Given the description of an element on the screen output the (x, y) to click on. 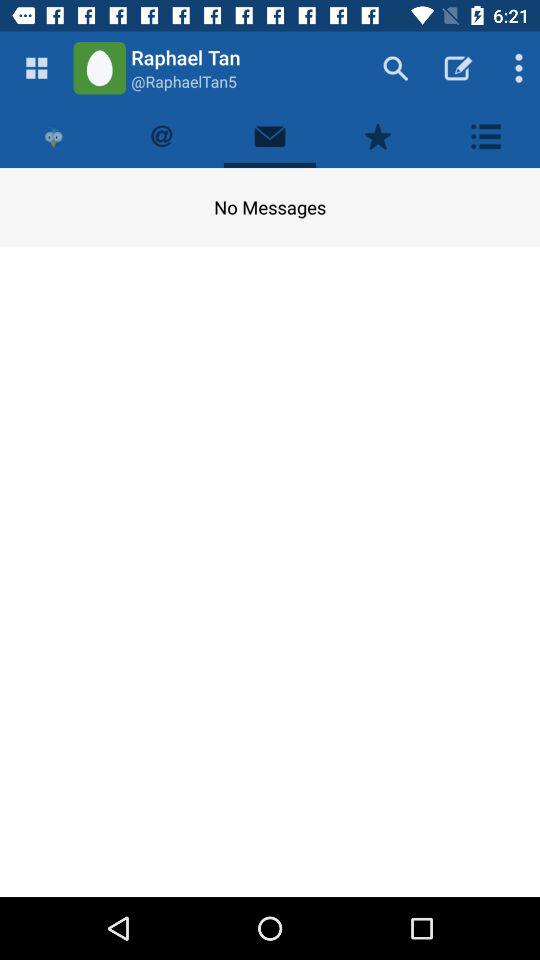
setting the option (486, 136)
